Given the description of an element on the screen output the (x, y) to click on. 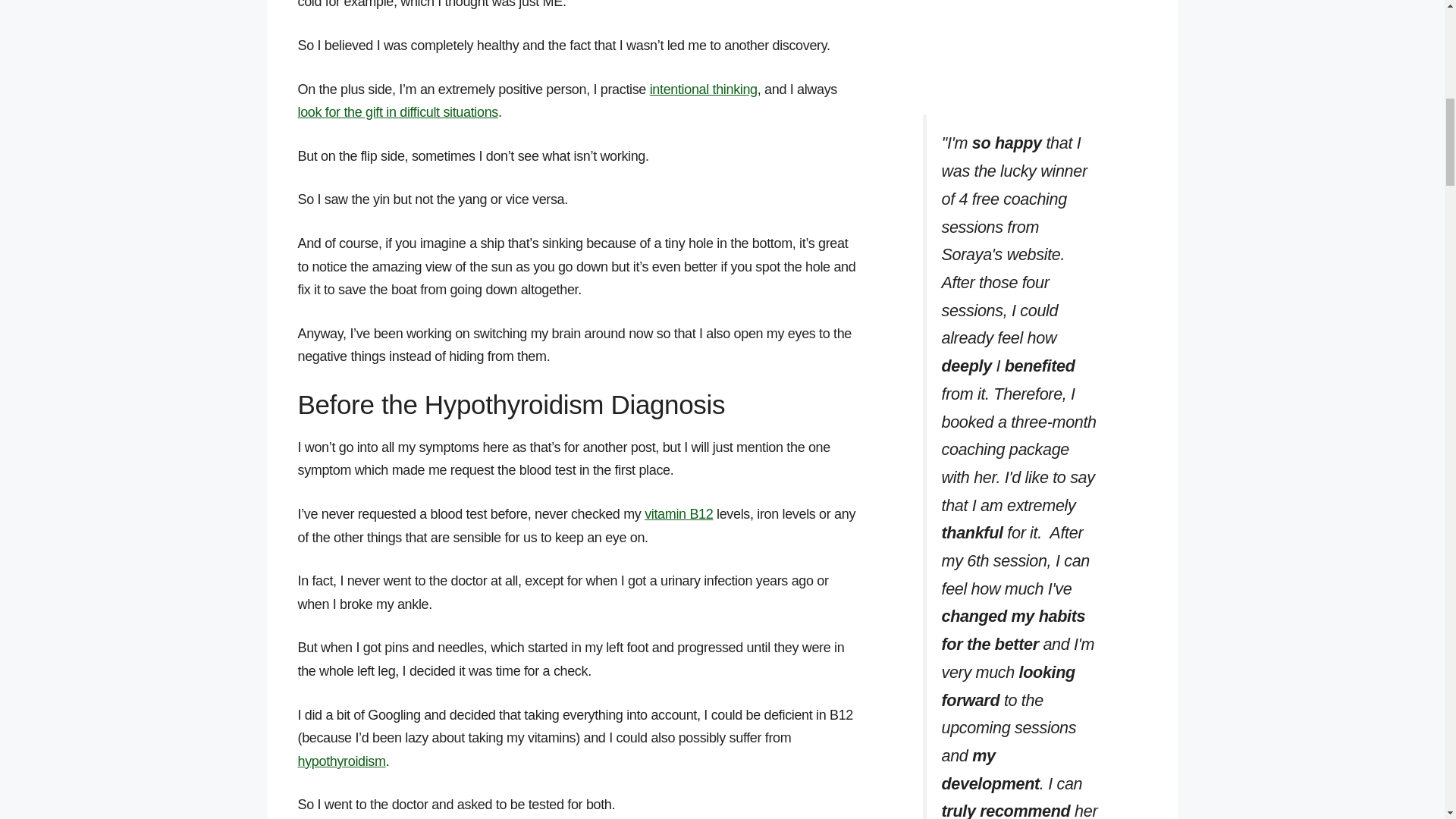
look for the gift in difficult situations (397, 111)
intentional thinking (703, 89)
